Given the description of an element on the screen output the (x, y) to click on. 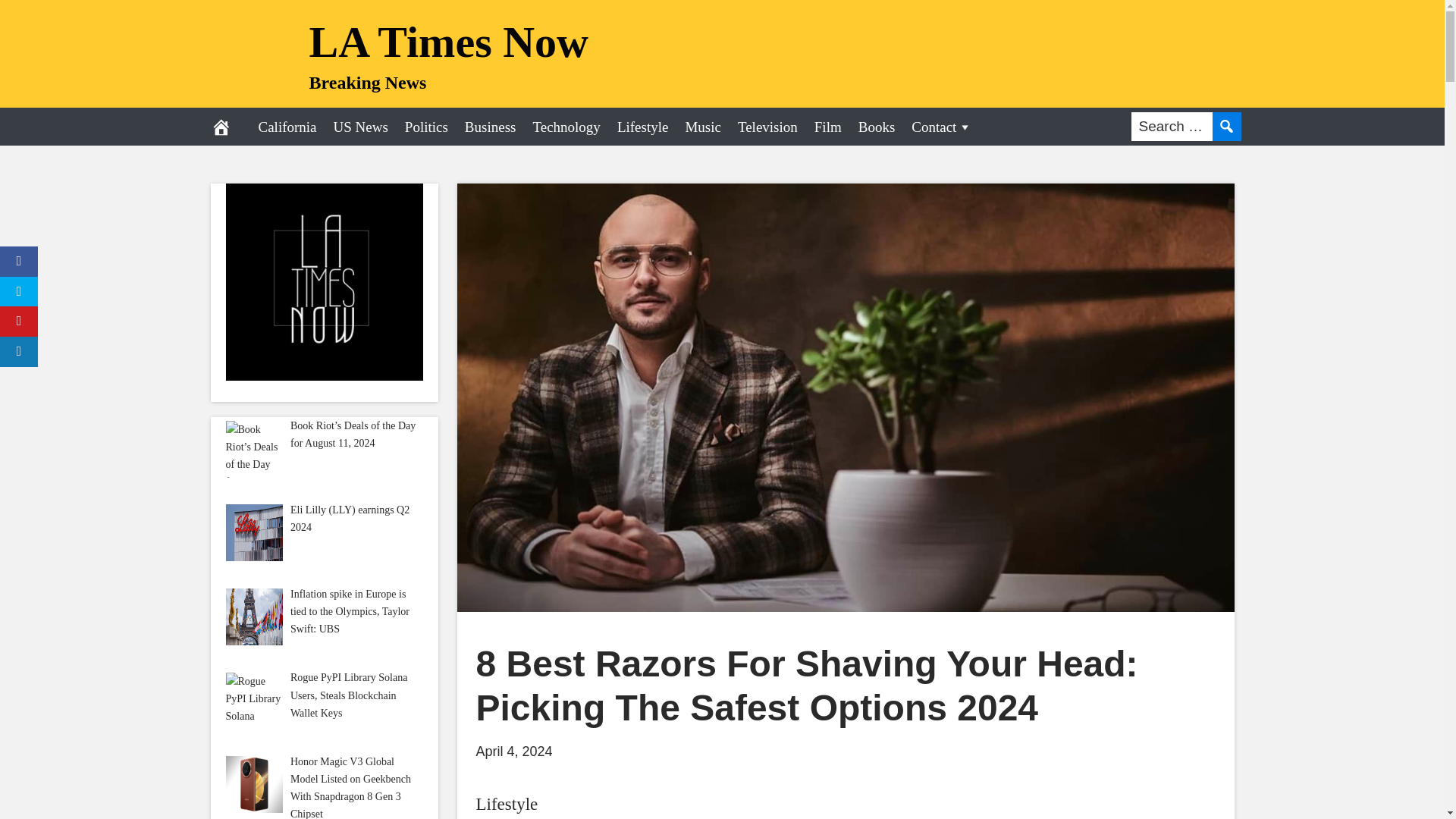
US News (360, 126)
Lifestyle (507, 804)
Business (490, 126)
LA Times Now (448, 41)
Music (703, 126)
Politics (426, 126)
Film (828, 126)
